Given the description of an element on the screen output the (x, y) to click on. 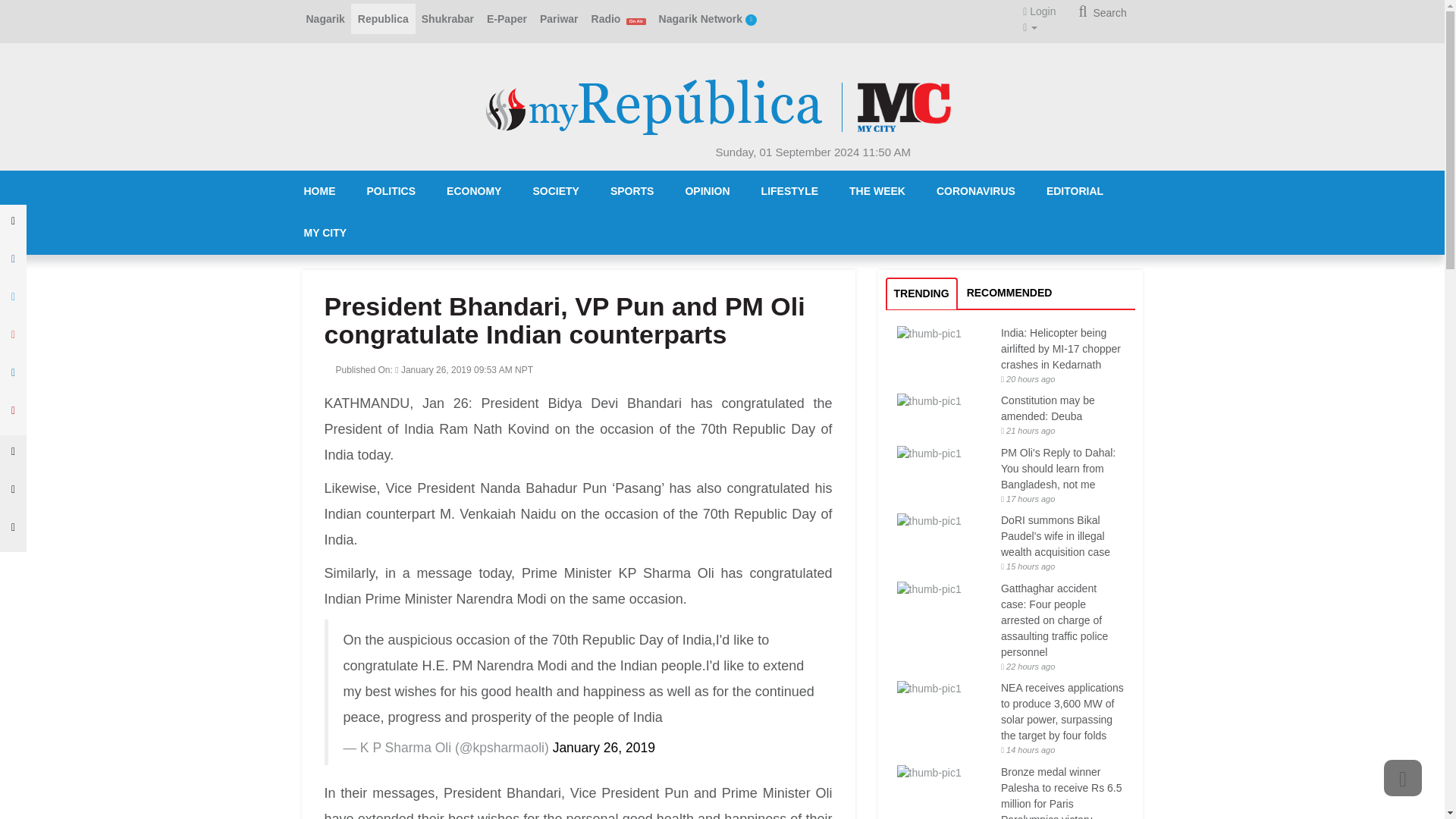
Nagarik Network  (707, 19)
Nagarik (324, 19)
Pariwar (558, 19)
POLITICS (390, 191)
SOCIETY (555, 191)
LIFESTYLE (789, 191)
Query Your News (1101, 12)
SPORTS (632, 191)
Radio  On Air (618, 19)
Republica (382, 19)
